Given the description of an element on the screen output the (x, y) to click on. 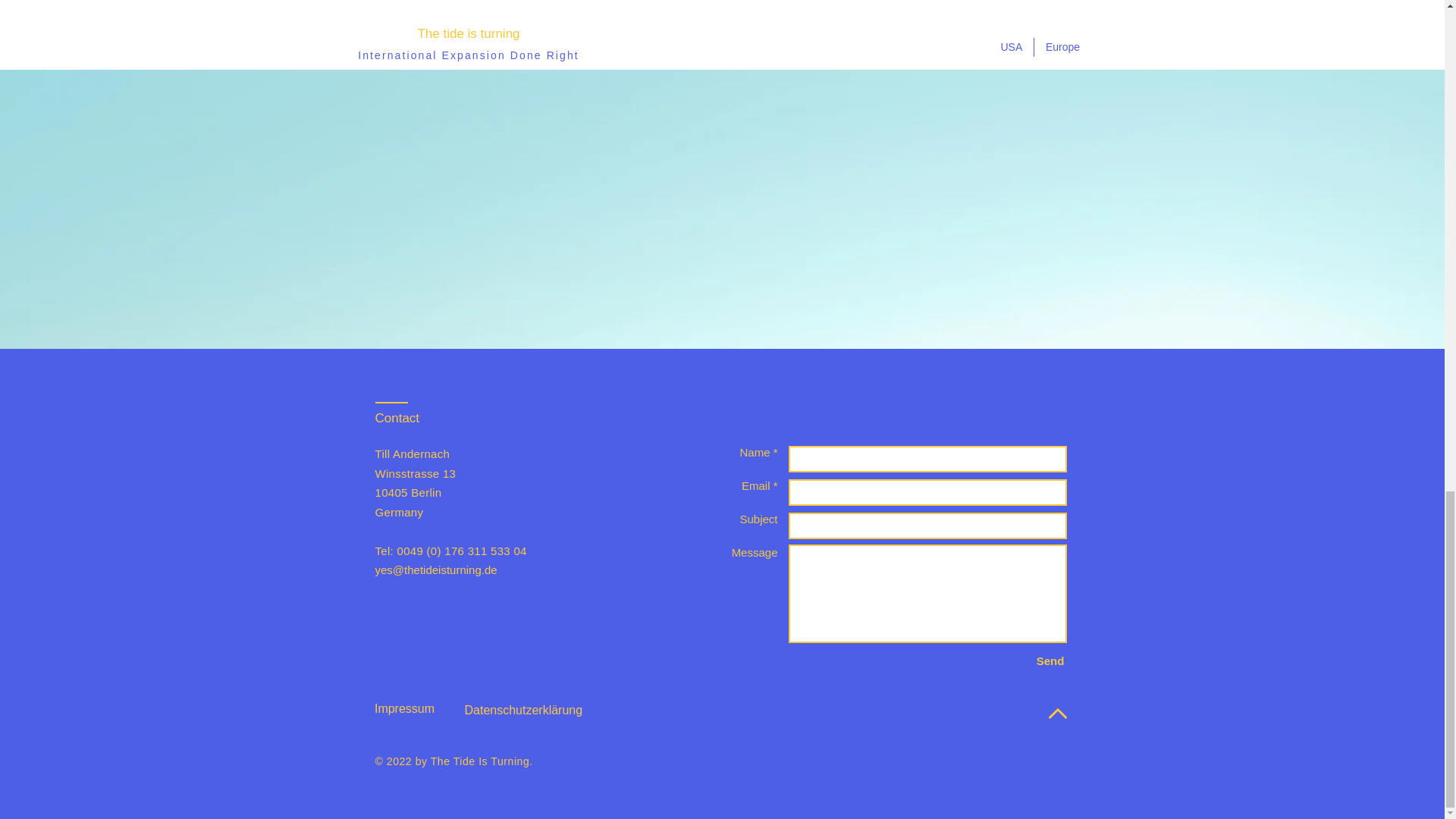
Impressum (404, 708)
Send (1050, 660)
